Given the description of an element on the screen output the (x, y) to click on. 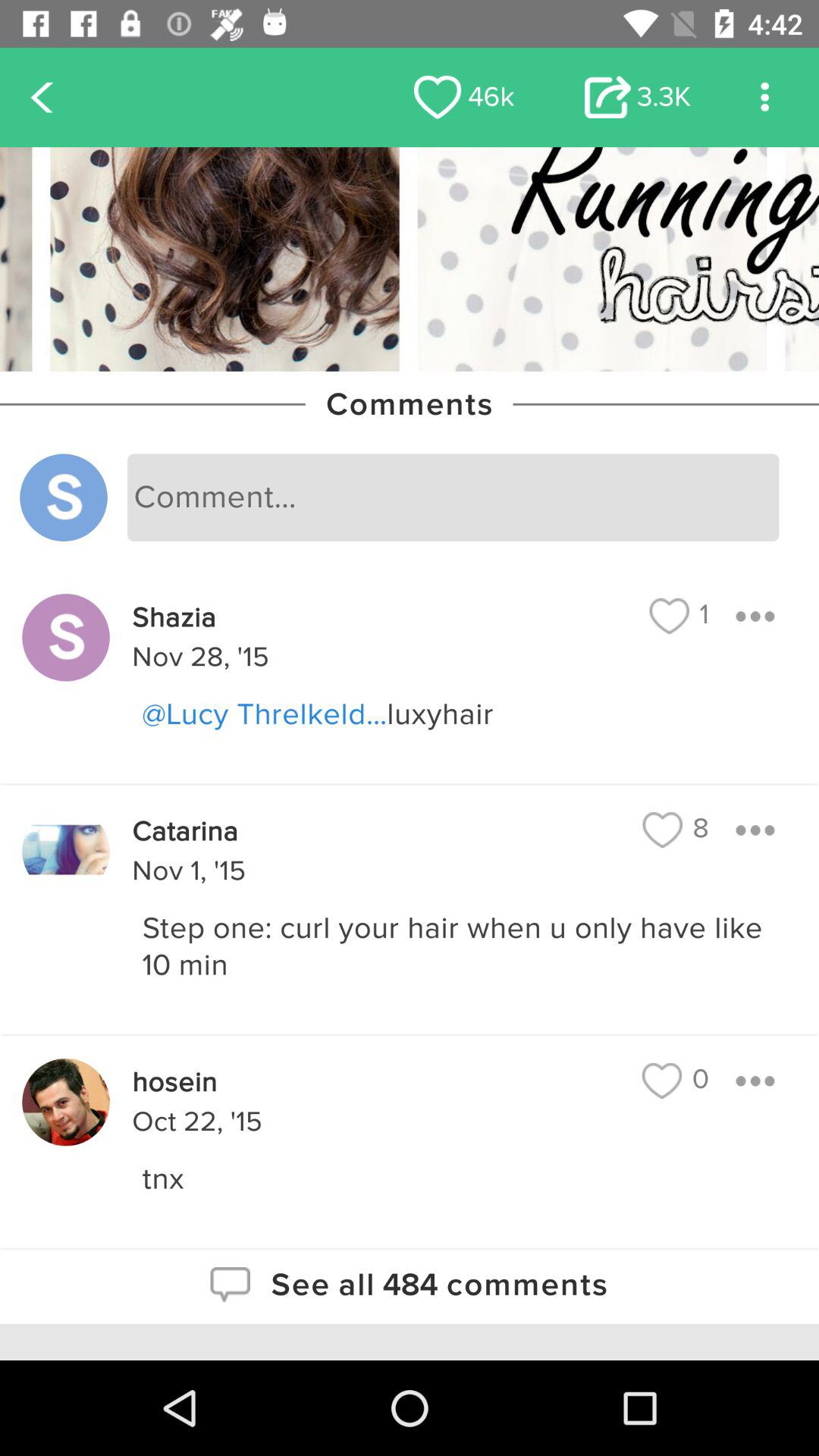
choose the 46k item (464, 97)
